Given the description of an element on the screen output the (x, y) to click on. 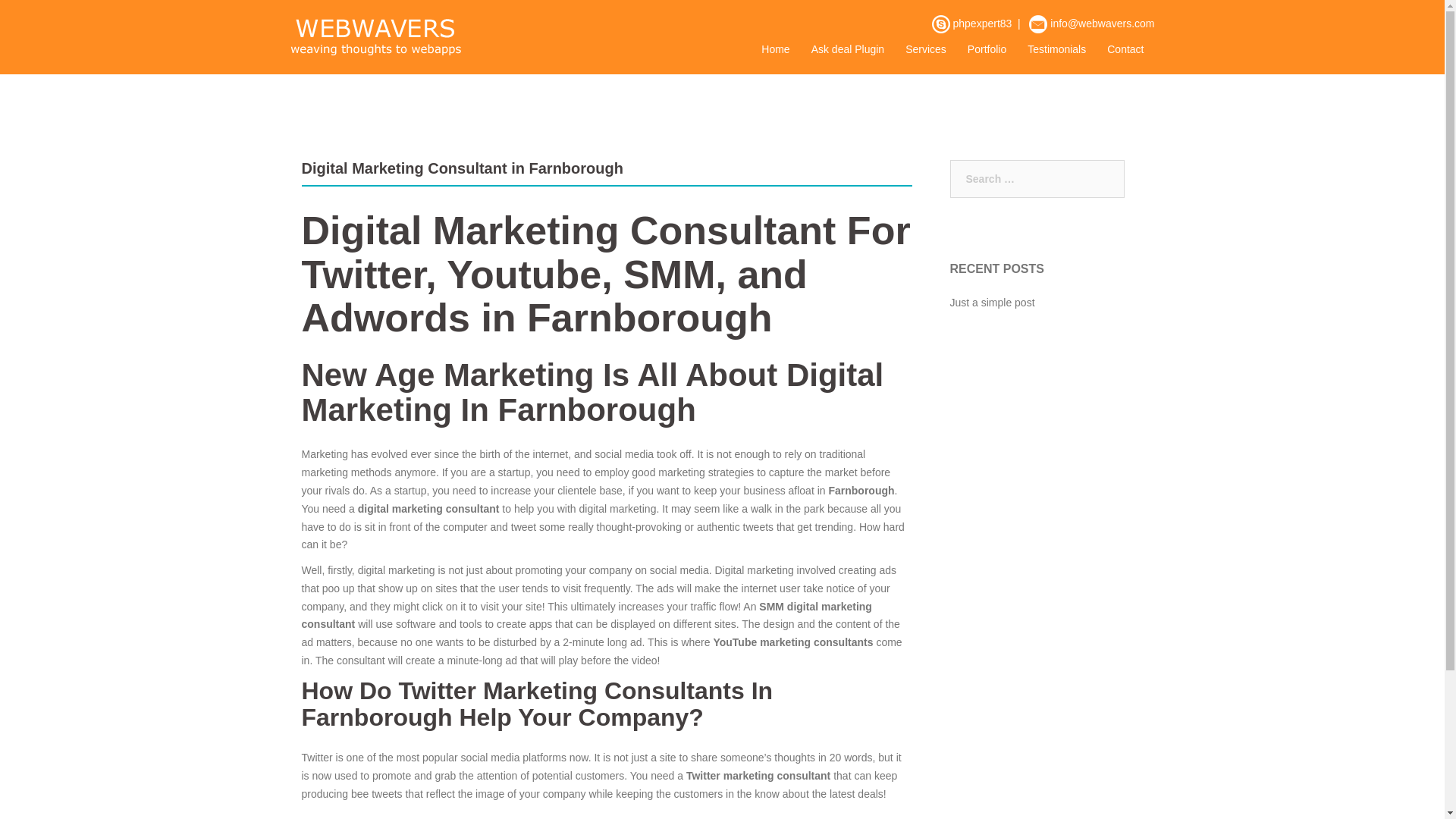
Services (925, 49)
Search (47, 18)
Home (775, 49)
Testimonials (1056, 49)
Just a simple post (991, 302)
Ask deal Plugin (847, 49)
Contact (1124, 49)
Portfolio (987, 49)
Web Wavers (374, 36)
phpexpert83 (981, 23)
